Given the description of an element on the screen output the (x, y) to click on. 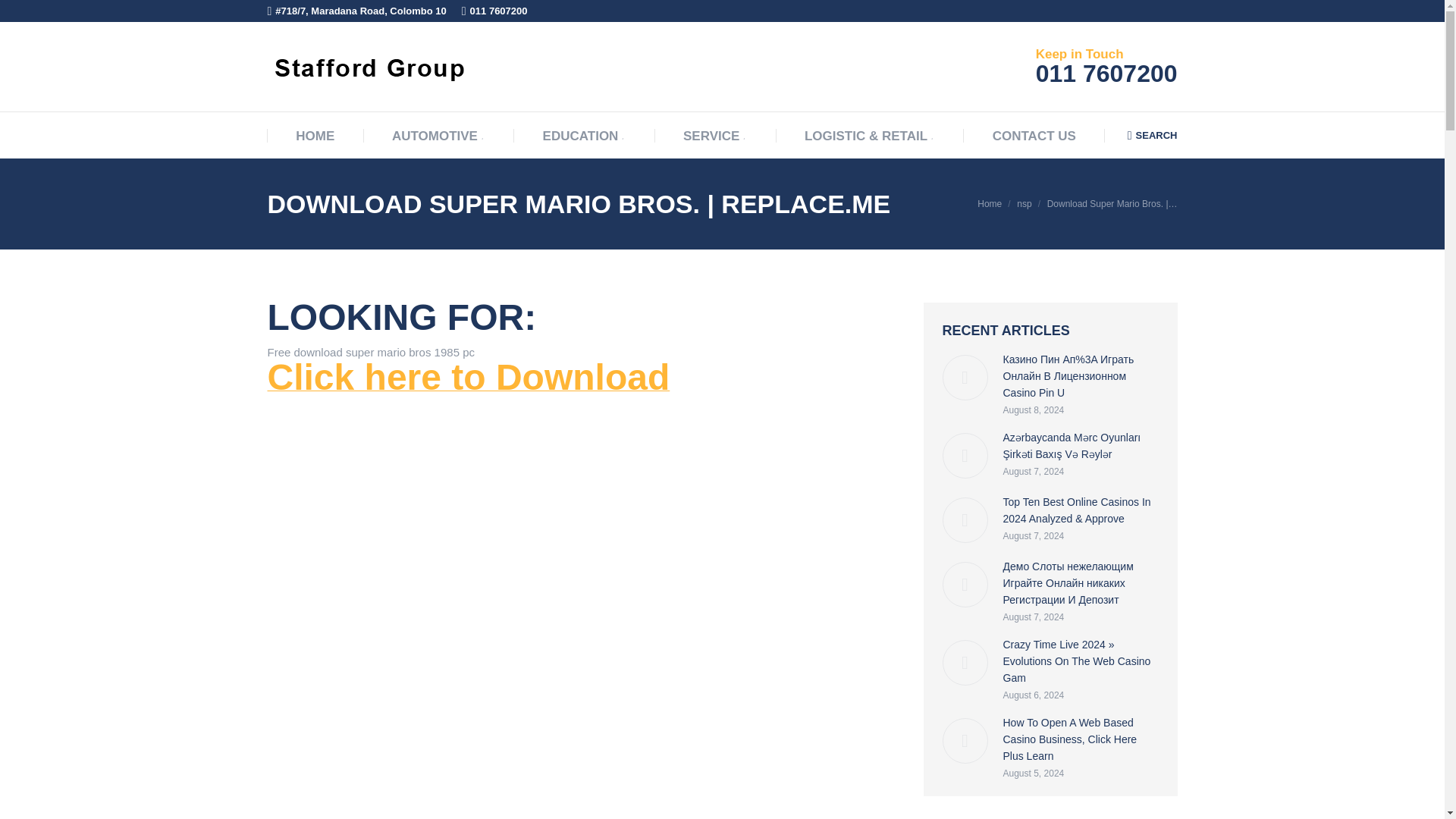
Go! (25, 15)
SERVICE (714, 136)
AUTOMOTIVE (437, 136)
CONTACT US (1033, 136)
SEARCH (1151, 134)
EDUCATION (584, 136)
HOME (314, 136)
